Given the description of an element on the screen output the (x, y) to click on. 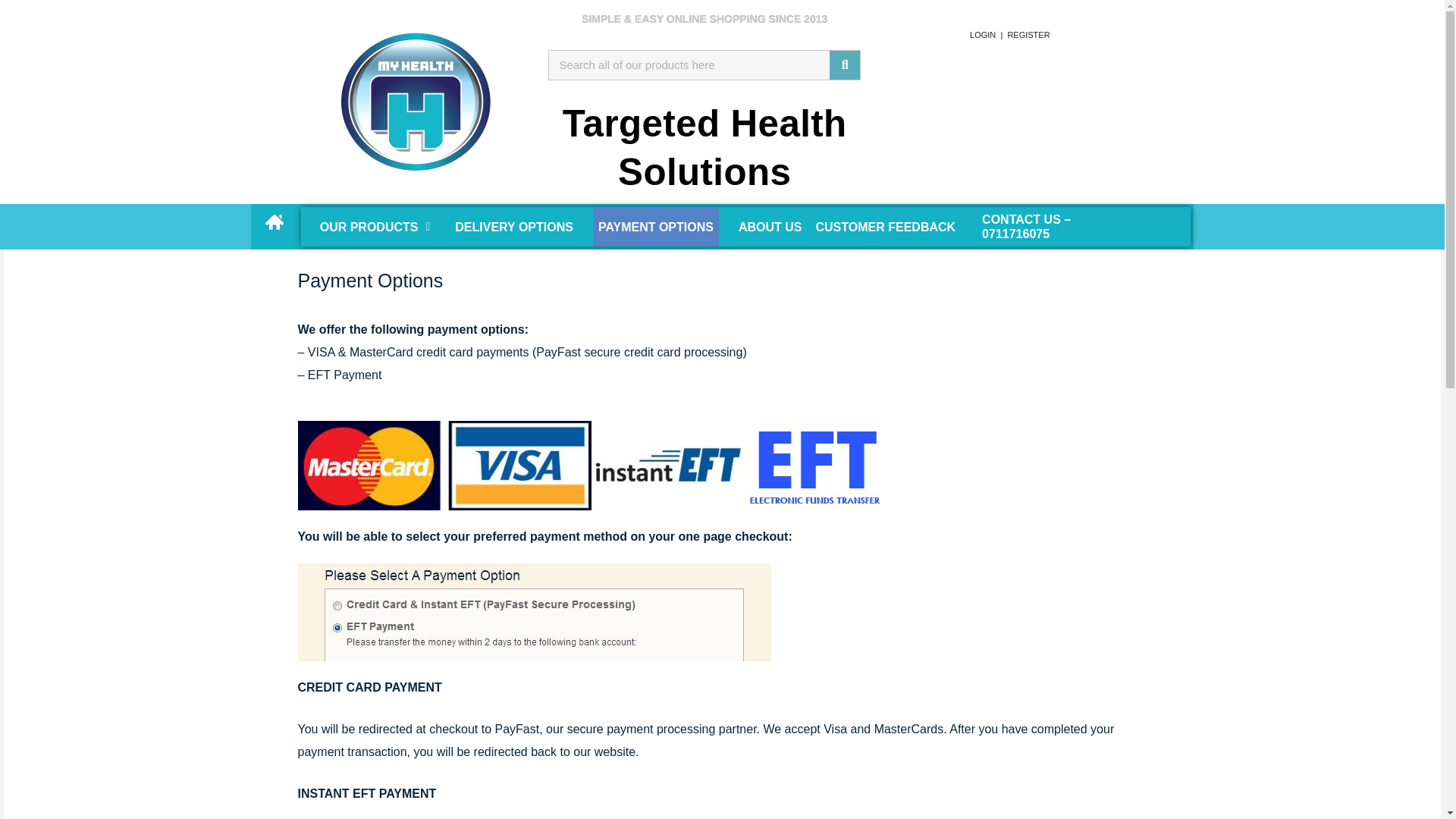
Search (688, 64)
OUR PRODUCTS (368, 226)
LOGIN  (978, 33)
Search (844, 64)
 REGISTER (1026, 33)
